Given the description of an element on the screen output the (x, y) to click on. 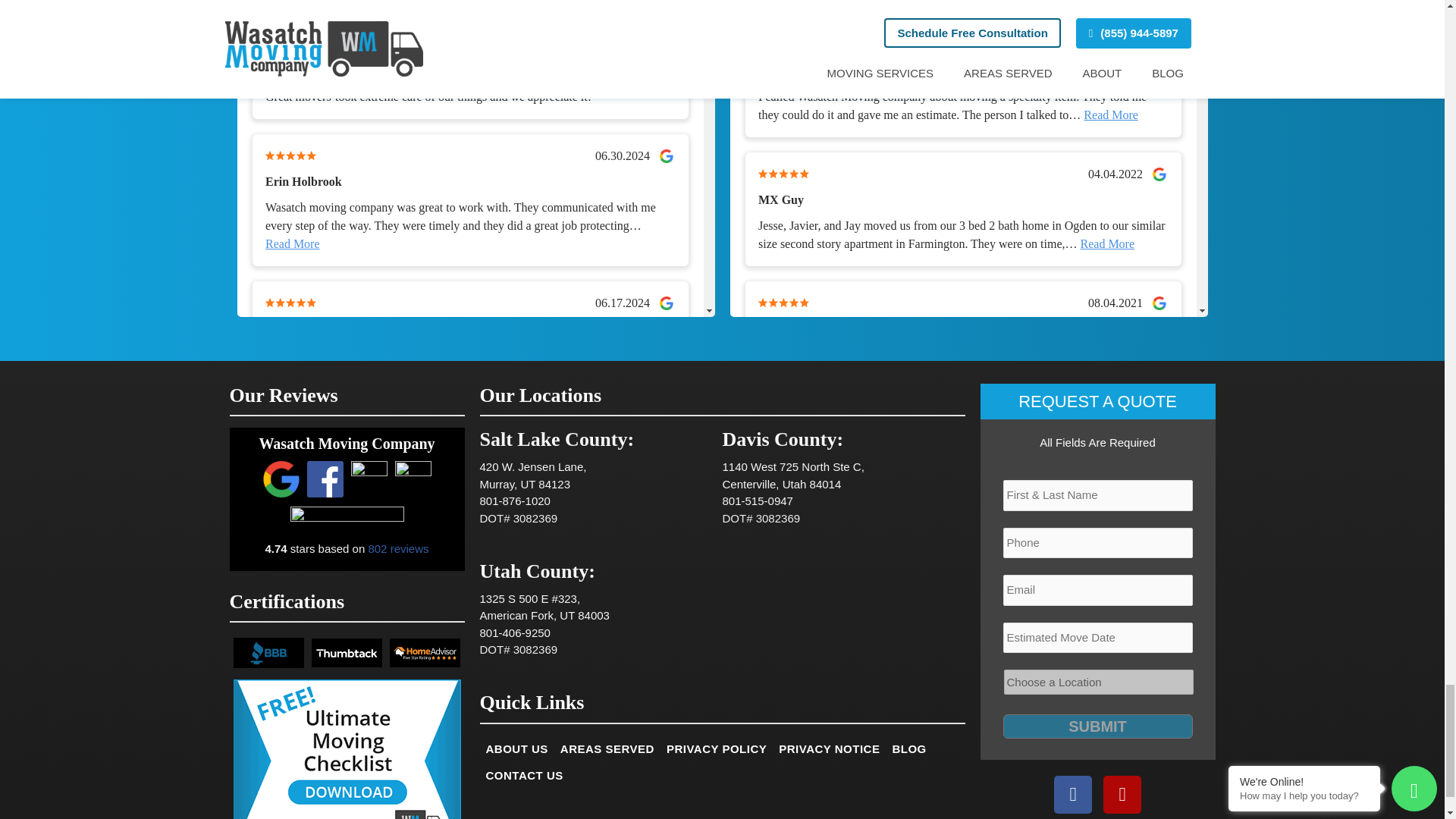
Submit (1097, 726)
